Given the description of an element on the screen output the (x, y) to click on. 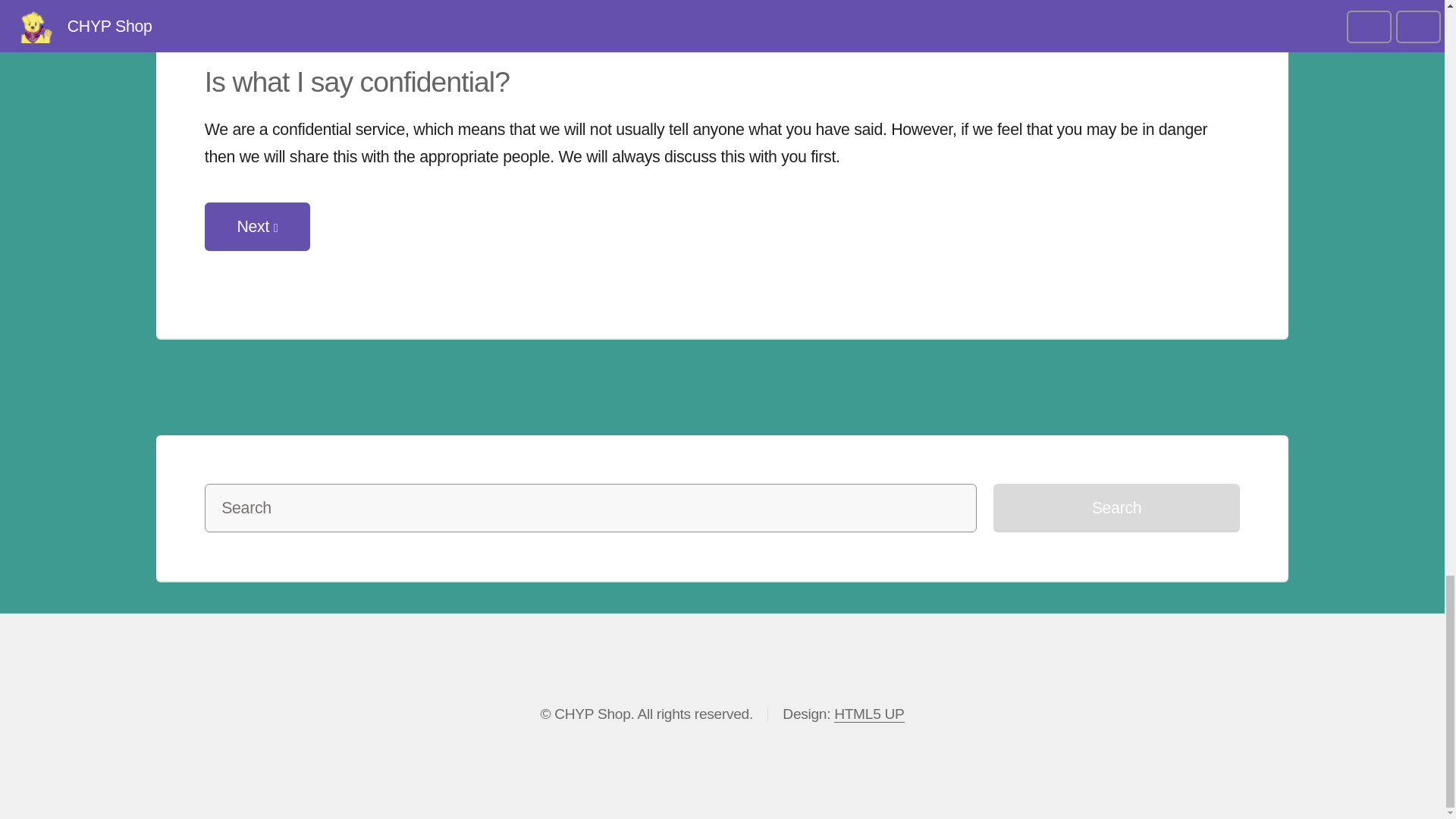
Search (1116, 508)
Search (257, 226)
HTML5 UP (1116, 508)
